Given the description of an element on the screen output the (x, y) to click on. 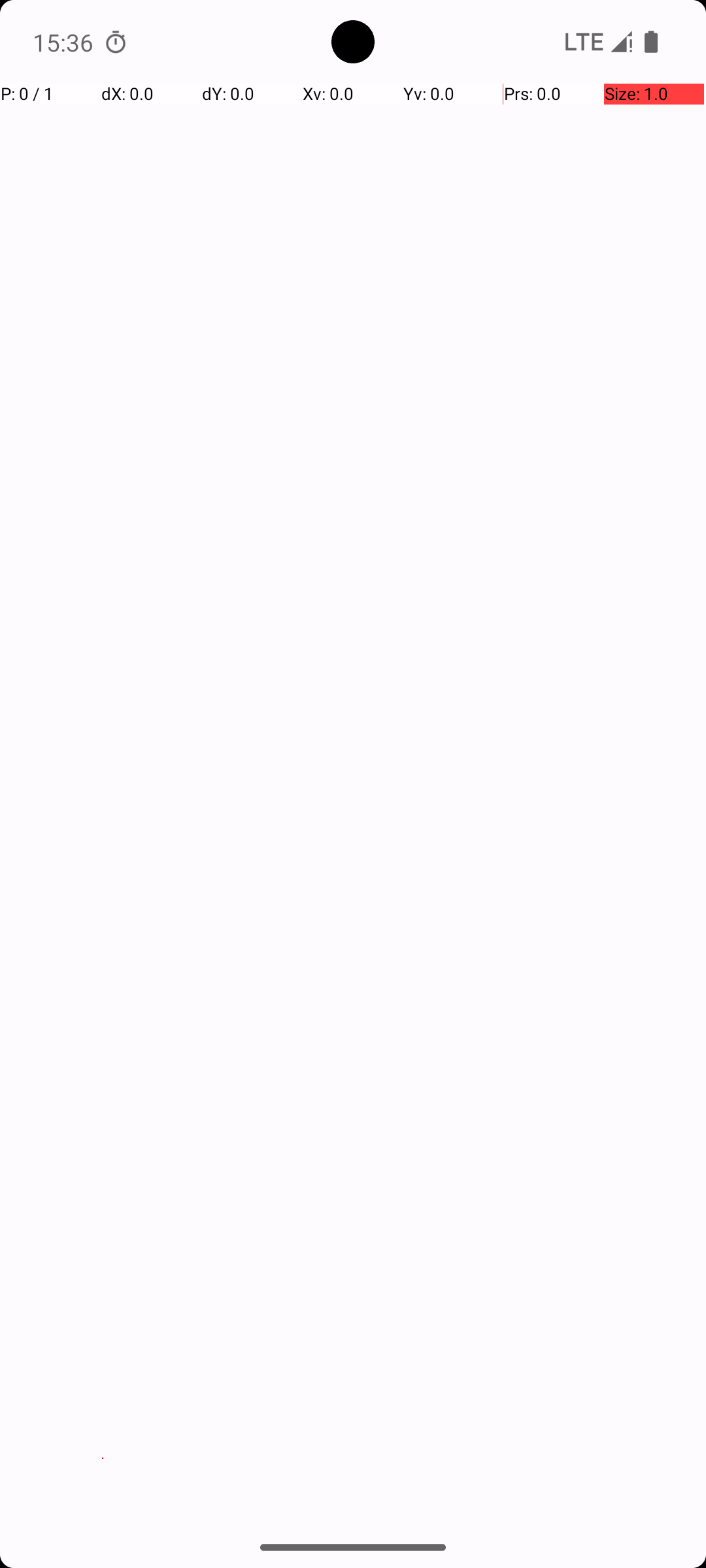
15:36 Element type: android.widget.TextView (64, 41)
